Given the description of an element on the screen output the (x, y) to click on. 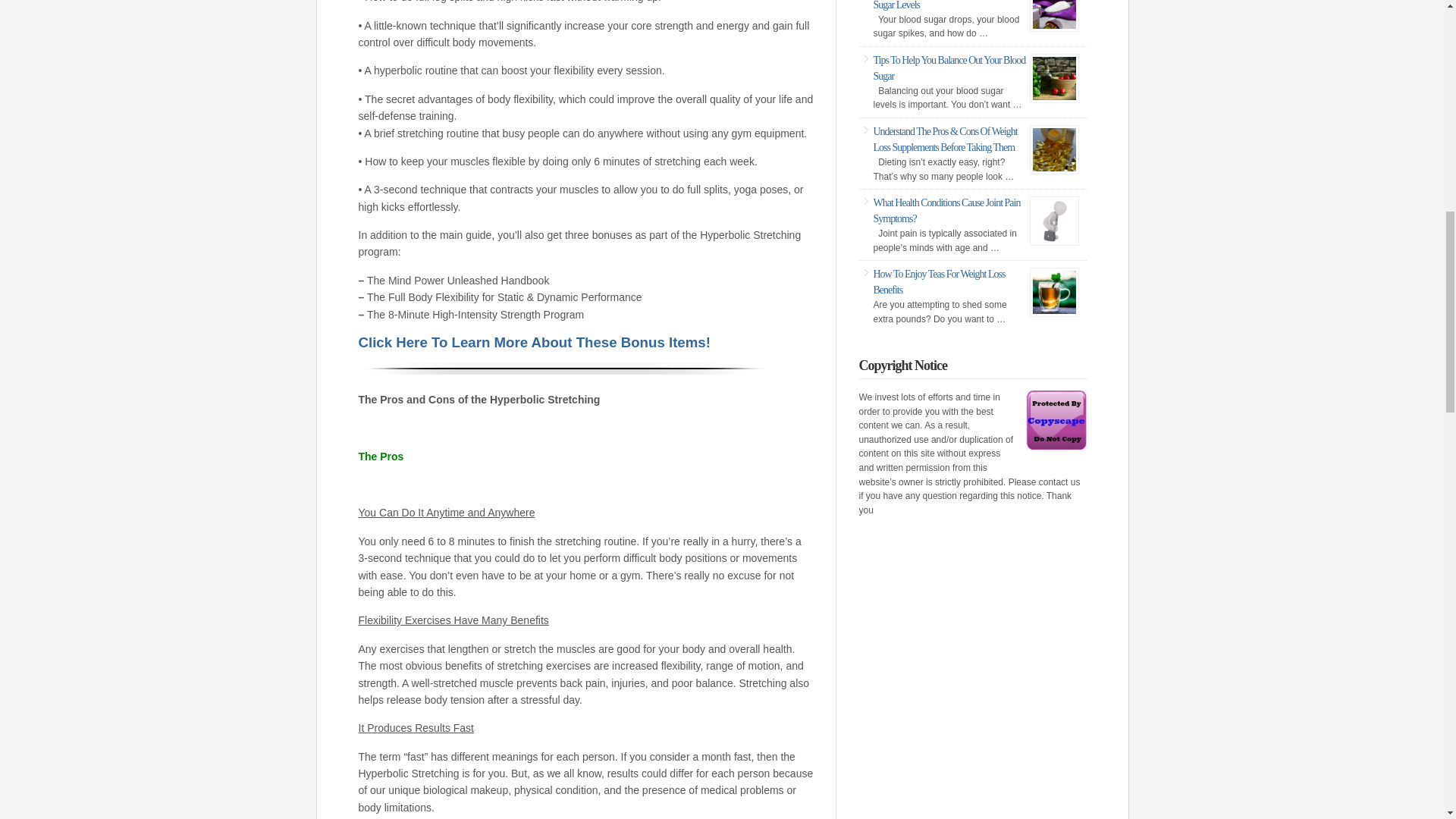
Tips To Help You Balance Out Your Blood Sugar (949, 67)
Permalink to Tips To Help You Balance Out Your Blood Sugar (949, 67)
Tips To Help You Balance Out Your Blood Sugar Levels (949, 5)
How To Enjoy Teas For Weight Loss Benefits (939, 281)
Click Here To Learn More About These Bonus Items! (534, 343)
Permalink to How To Enjoy Teas For Weight Loss Benefits (939, 281)
What Health Conditions Cause Joint Pain Symptoms? (946, 210)
